Given the description of an element on the screen output the (x, y) to click on. 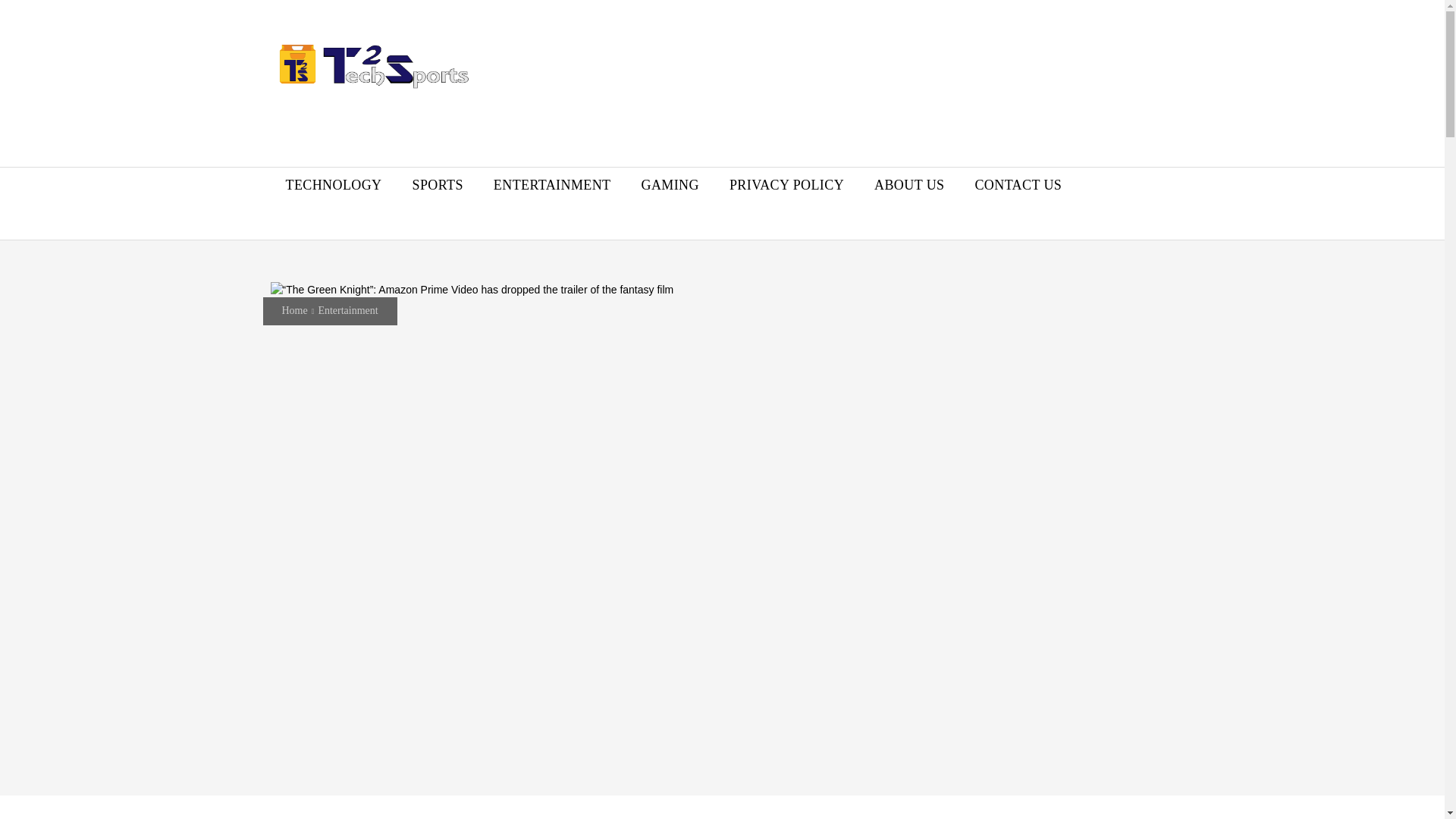
ENTERTAINMENT (552, 185)
SPORTS (438, 185)
TECHNOLOGY (332, 185)
